Given the description of an element on the screen output the (x, y) to click on. 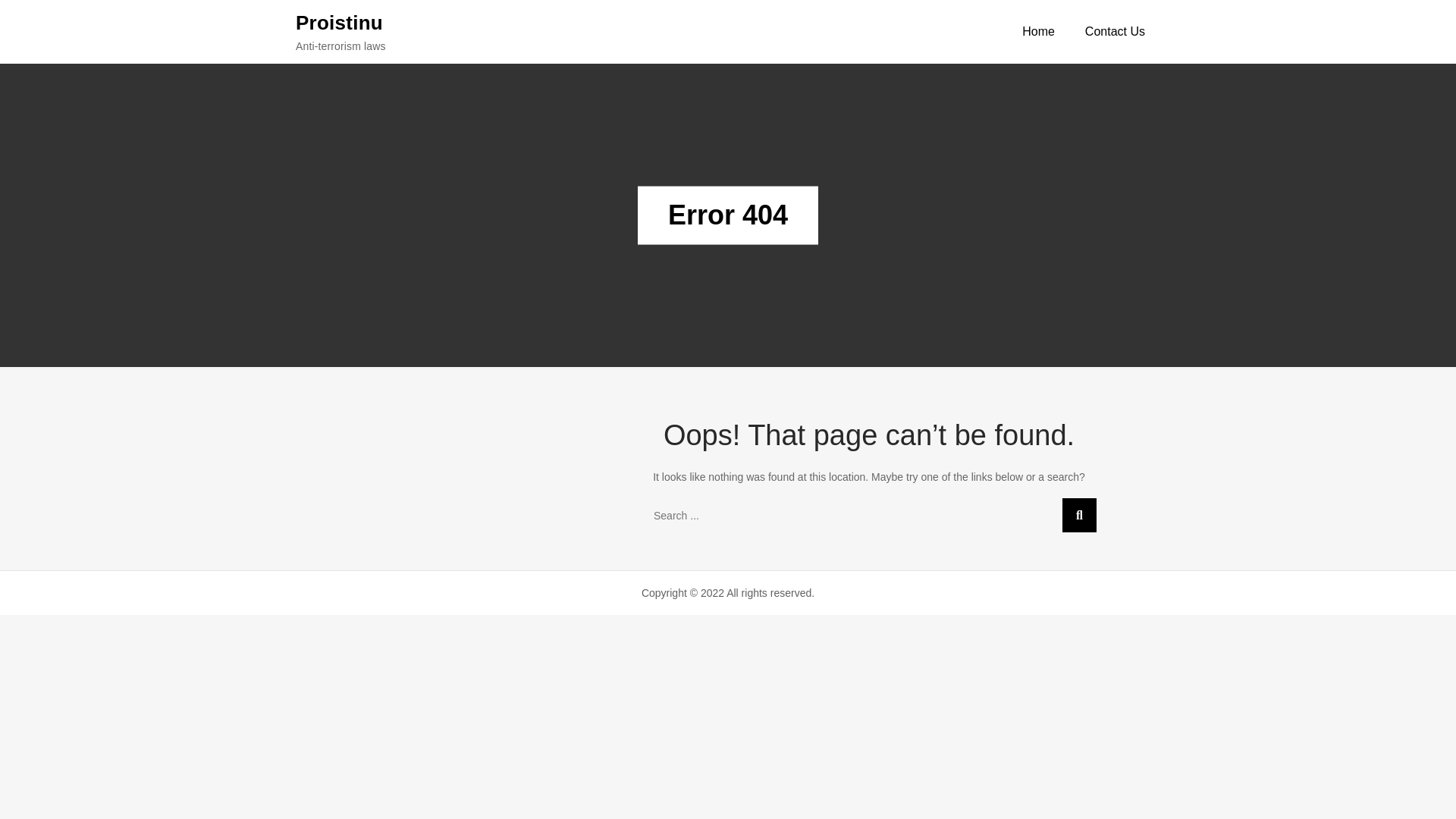
Search for: (869, 514)
Proistinu (338, 21)
Contact Us (1115, 31)
Search (1079, 514)
Home (1038, 31)
